Given the description of an element on the screen output the (x, y) to click on. 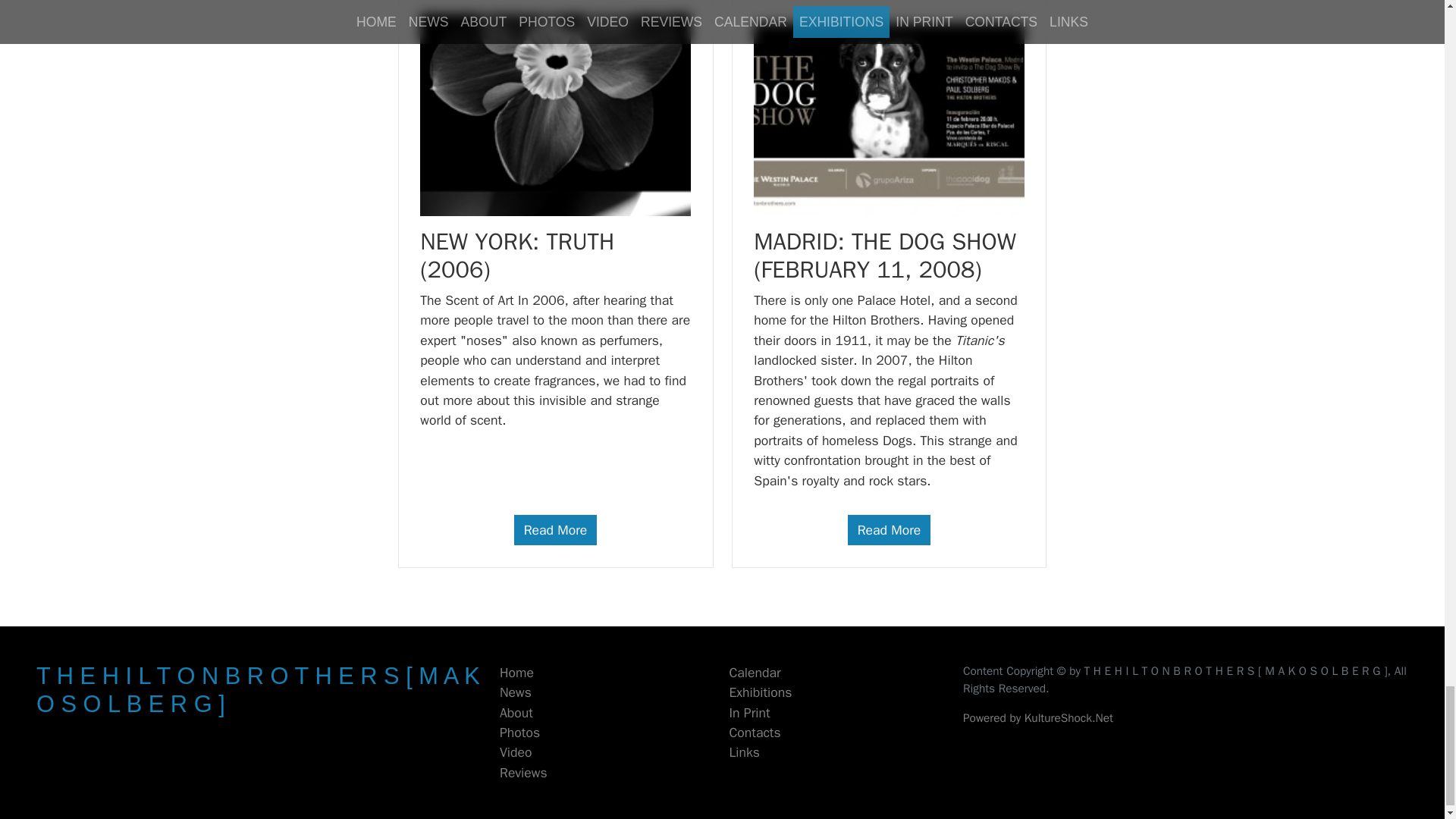
About (515, 712)
Home (516, 672)
News (515, 692)
